Given the description of an element on the screen output the (x, y) to click on. 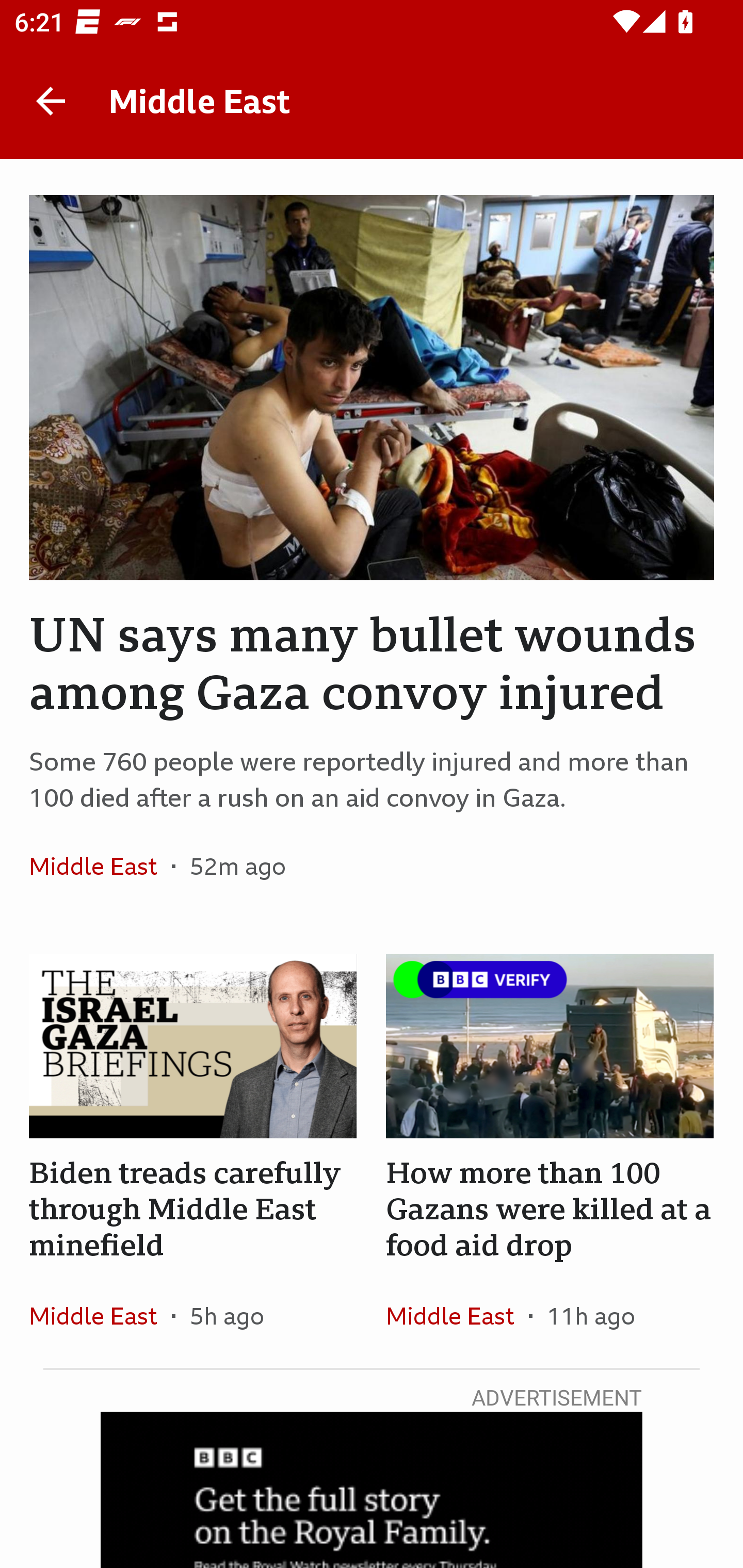
Back (50, 101)
Middle East In the section Middle East (99, 865)
Middle East In the section Middle East (99, 1315)
Middle East In the section Middle East (457, 1315)
